Given the description of an element on the screen output the (x, y) to click on. 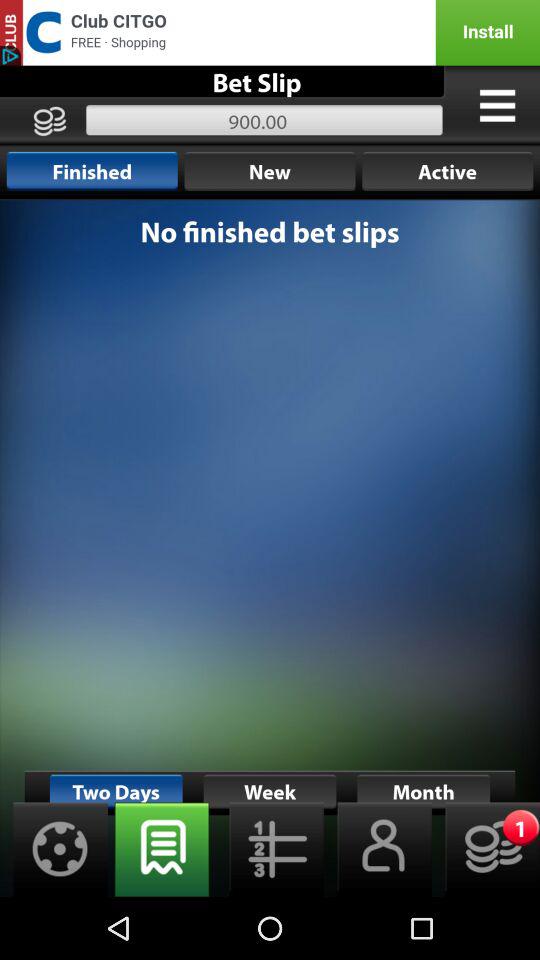
open menu (497, 105)
